Given the description of an element on the screen output the (x, y) to click on. 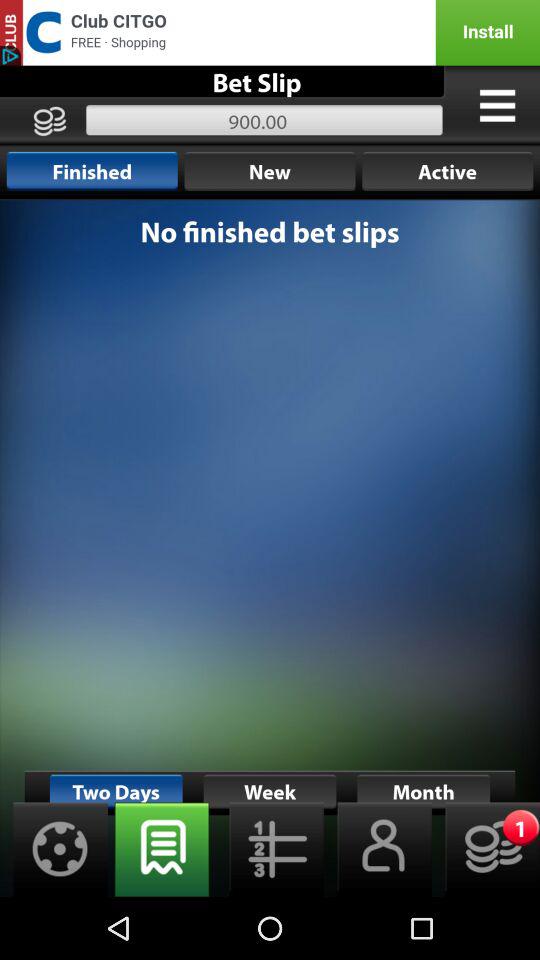
open menu (497, 105)
